Given the description of an element on the screen output the (x, y) to click on. 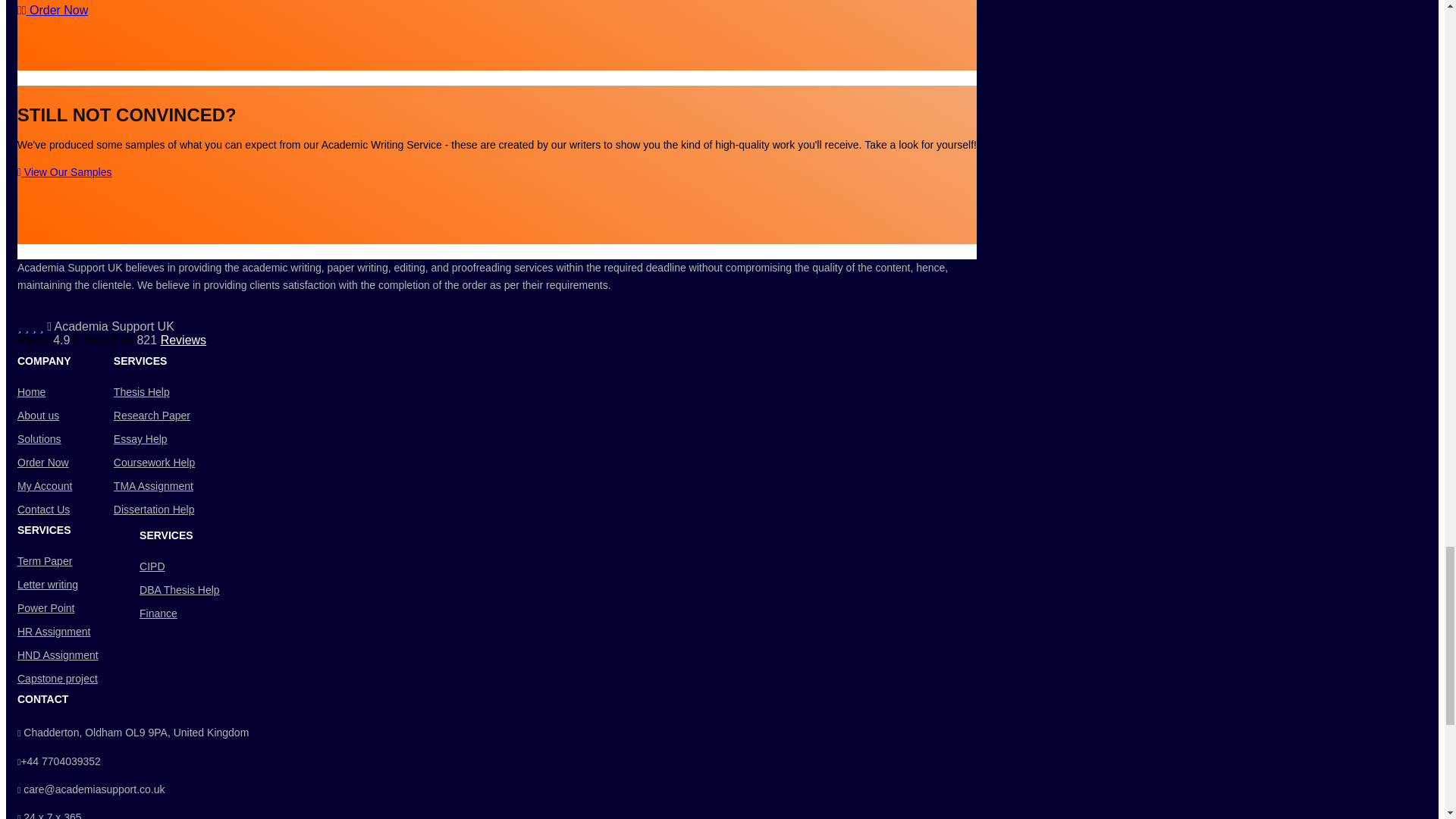
Reviews (183, 339)
Order Now (52, 10)
View Our Samples (64, 172)
